Given the description of an element on the screen output the (x, y) to click on. 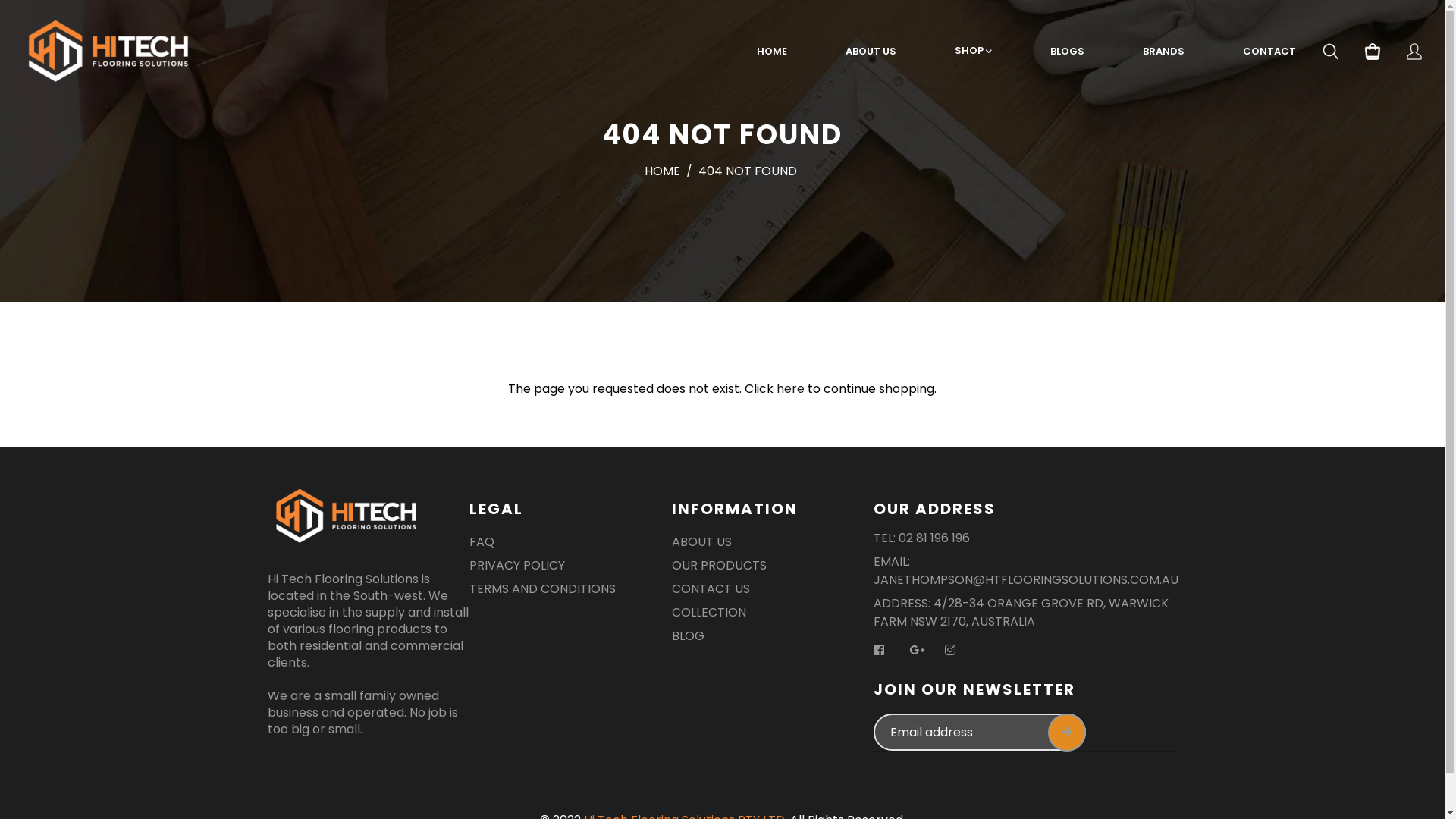
BLOGS Element type: text (1066, 51)
ABOUT US Element type: text (701, 544)
HOME Element type: text (662, 170)
BLOG Element type: text (687, 638)
here Element type: text (790, 388)
EMAIL: JANETHOMPSON@HTFLOORINGSOLUTIONS.COM.AU Element type: text (1025, 573)
BRANDS Element type: text (1163, 51)
OUR PRODUCTS Element type: text (718, 568)
SHOPPING BAG , UI, ECOMMERCE, MARKETPLACE, Element type: text (1372, 53)
CONTACT US Element type: text (710, 591)
Log in Element type: hover (1413, 53)
CONTACT Element type: text (1269, 51)
COLLECTION Element type: text (708, 615)
TERMS AND CONDITIONS Element type: text (542, 591)
TEL: 02 81 196 196 Element type: text (921, 540)
ABOUT US Element type: text (870, 51)
PRIVACY POLICY Element type: text (516, 568)
SHOP Element type: text (973, 50)
FAQ Element type: text (481, 544)
HOME Element type: text (771, 51)
